Given the description of an element on the screen output the (x, y) to click on. 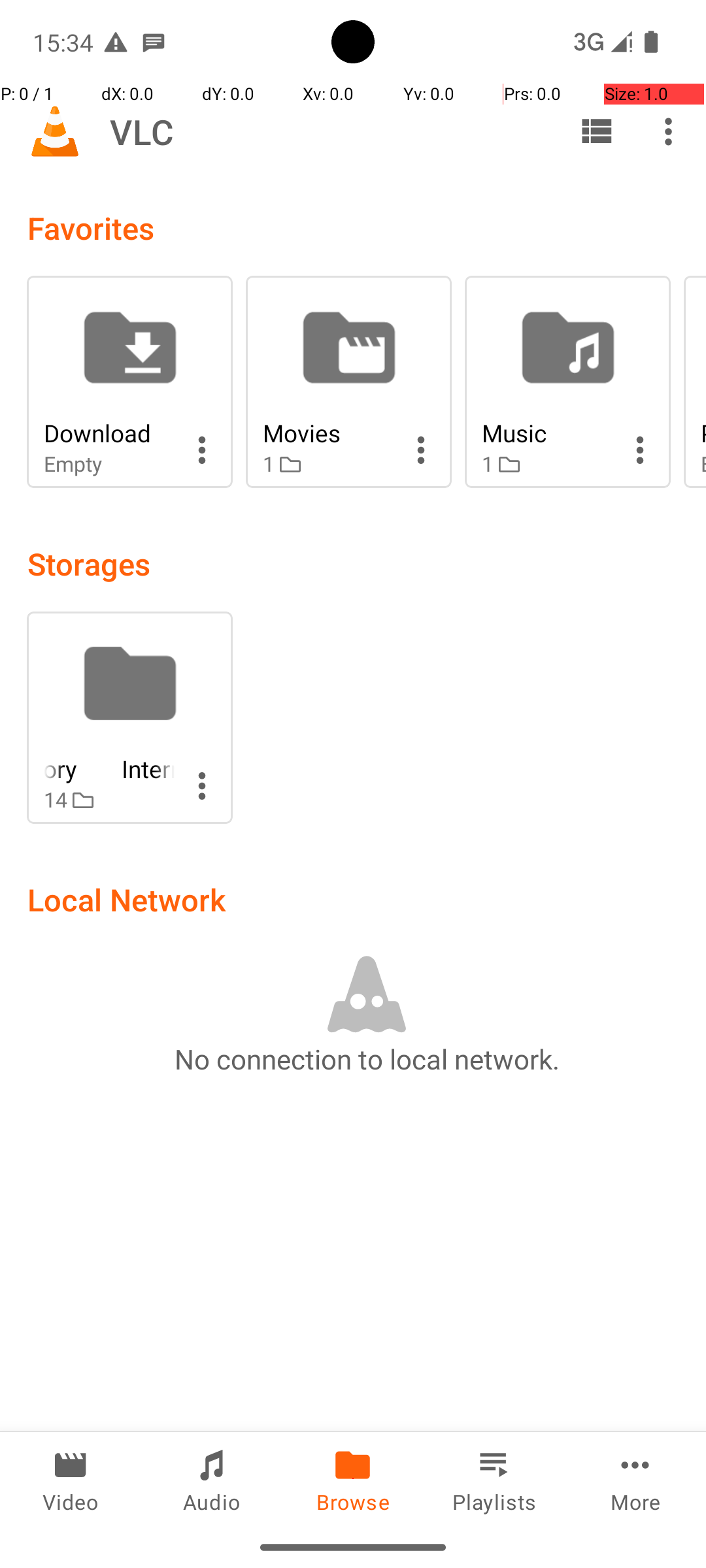
Display in list Element type: android.widget.TextView (595, 131)
Storages Element type: android.widget.TextView (88, 563)
Local Network Element type: android.widget.TextView (126, 898)
No connection to local network. Element type: android.widget.TextView (366, 1058)
Favorite: Download, Empty Element type: androidx.cardview.widget.CardView (129, 381)
Favorite: Movies, 1 subfolder Element type: androidx.cardview.widget.CardView (348, 381)
Favorite: Music, 1 subfolder Element type: androidx.cardview.widget.CardView (567, 381)
Favorite: Podcasts, Empty Element type: androidx.cardview.widget.CardView (694, 381)
Folder: Internal memory, 14 subfolders Element type: androidx.cardview.widget.CardView (129, 717)
Empty Element type: android.widget.TextView (108, 463)
More Actions Element type: android.widget.ImageView (201, 449)
Movies Element type: android.widget.TextView (327, 432)
1 §*§ Element type: android.widget.TextView (327, 463)
Podcasts Element type: android.widget.TextView (703, 432)
Internal memory Element type: android.widget.TextView (108, 768)
14 §*§ Element type: android.widget.TextView (108, 799)
